Given the description of an element on the screen output the (x, y) to click on. 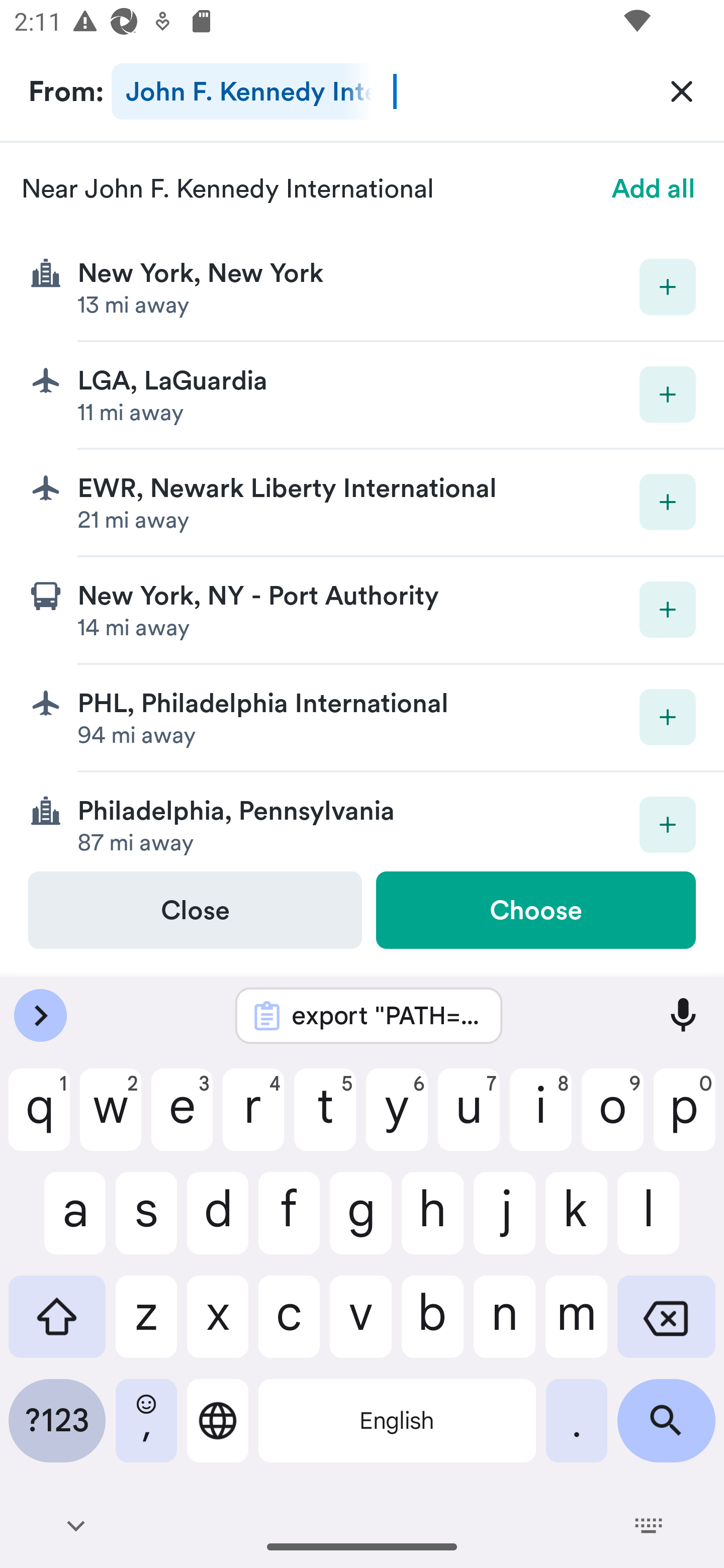
Clear All (681, 90)
John F. Kennedy International (241, 91)
Add all (653, 187)
Add destination New York, New York 13 mi away (362, 287)
Add destination (667, 286)
Add destination LGA, LaGuardia 11 mi away (362, 395)
Add destination (667, 394)
Add destination (667, 501)
Add destination (667, 609)
Add destination (667, 716)
Add destination (667, 824)
Close (195, 909)
Choose (535, 909)
